Given the description of an element on the screen output the (x, y) to click on. 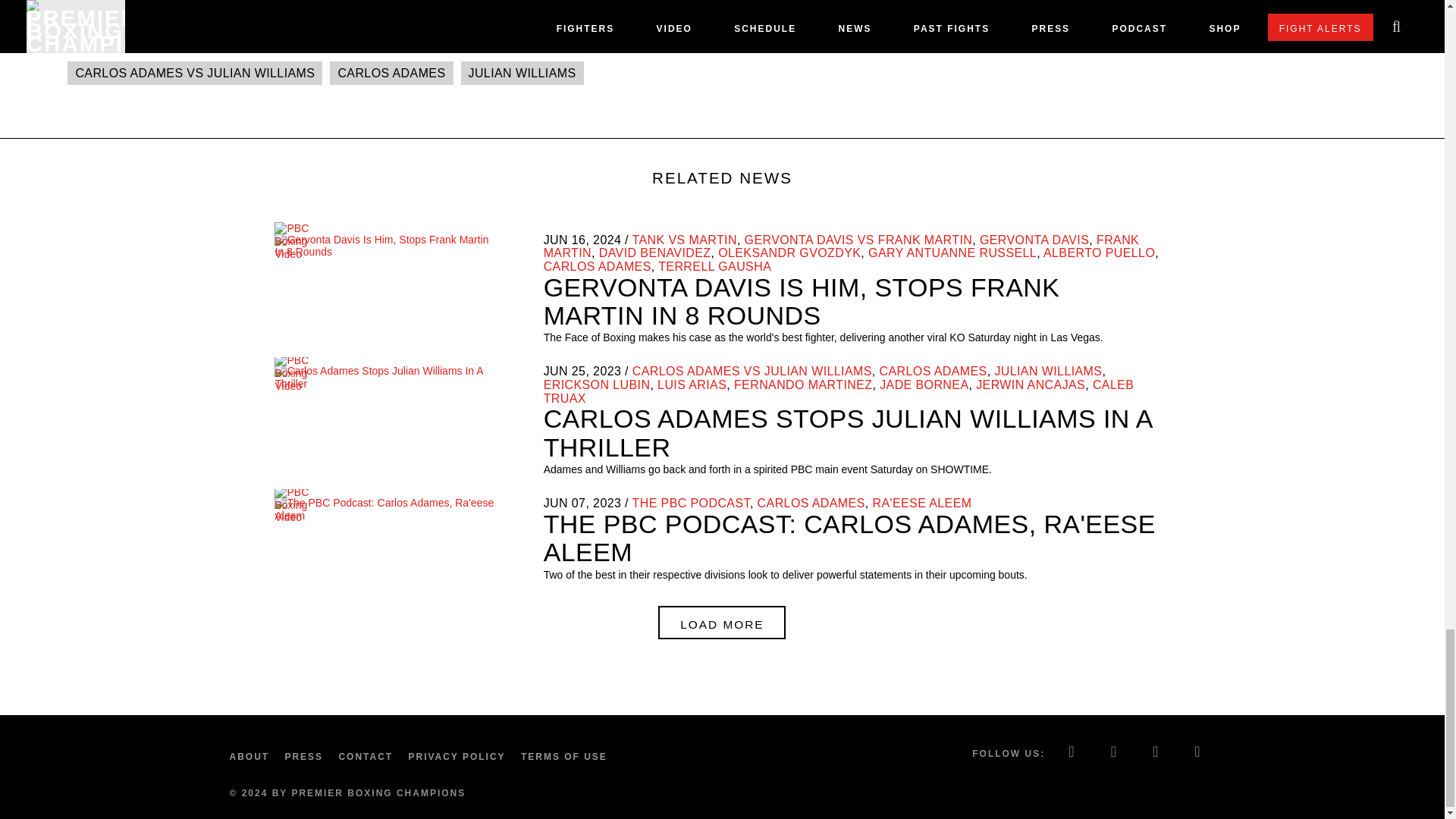
You Tube (1197, 753)
JULIAN WILLIAMS (522, 73)
June (555, 502)
CARLOS ADAMES VS JULIAN WILLIAMS (193, 73)
June (555, 239)
Facebook (1071, 753)
Instagram (1155, 753)
June (555, 370)
CARLOS ADAMES (391, 73)
Twitter (1114, 753)
